Given the description of an element on the screen output the (x, y) to click on. 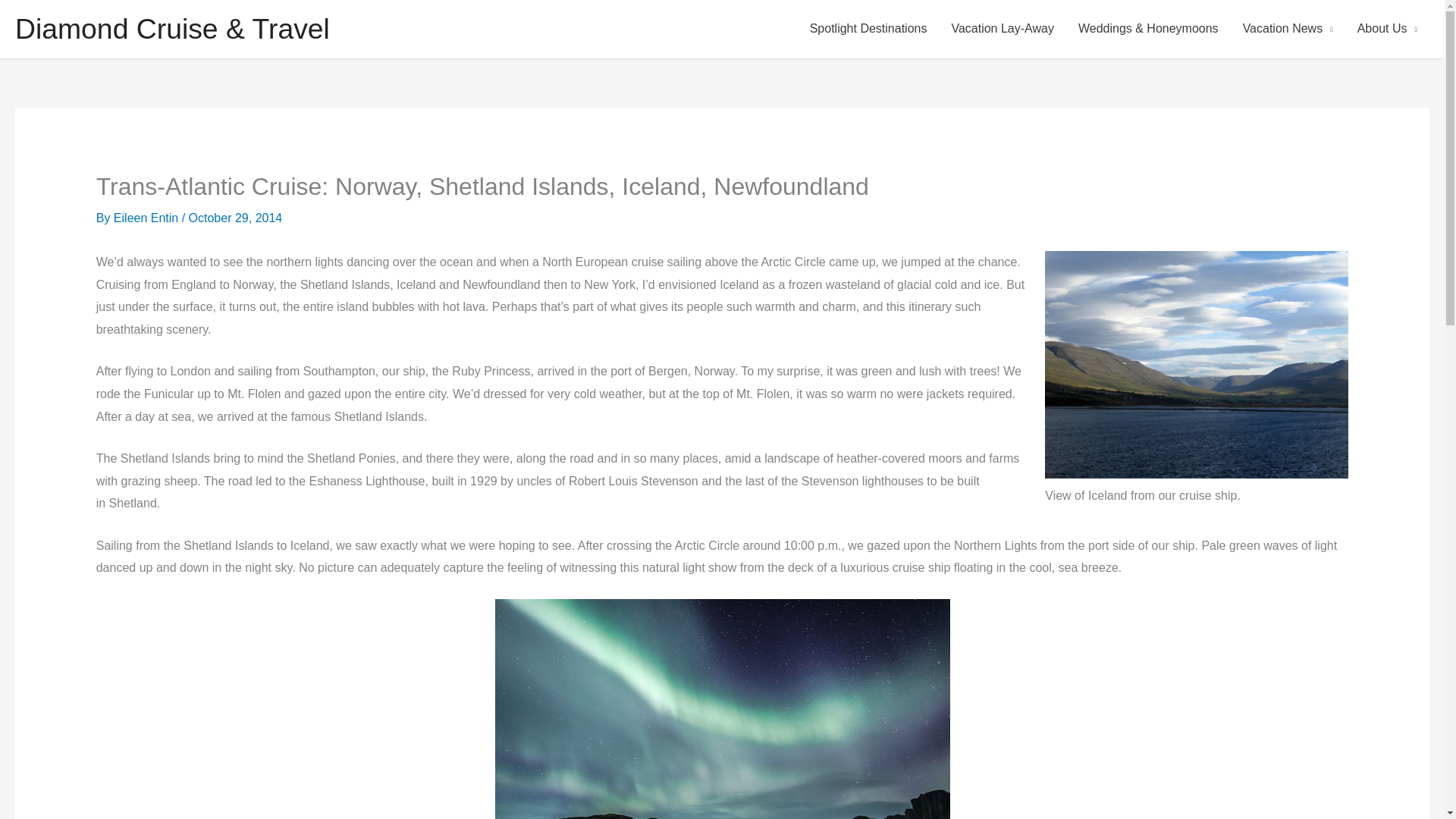
Eileen Entin (147, 217)
About Us (1387, 29)
Vacation News (1287, 29)
Spotlight Destinations (868, 29)
Vacation Lay-Away (1002, 29)
View all posts by Eileen Entin (147, 217)
